Given the description of an element on the screen output the (x, y) to click on. 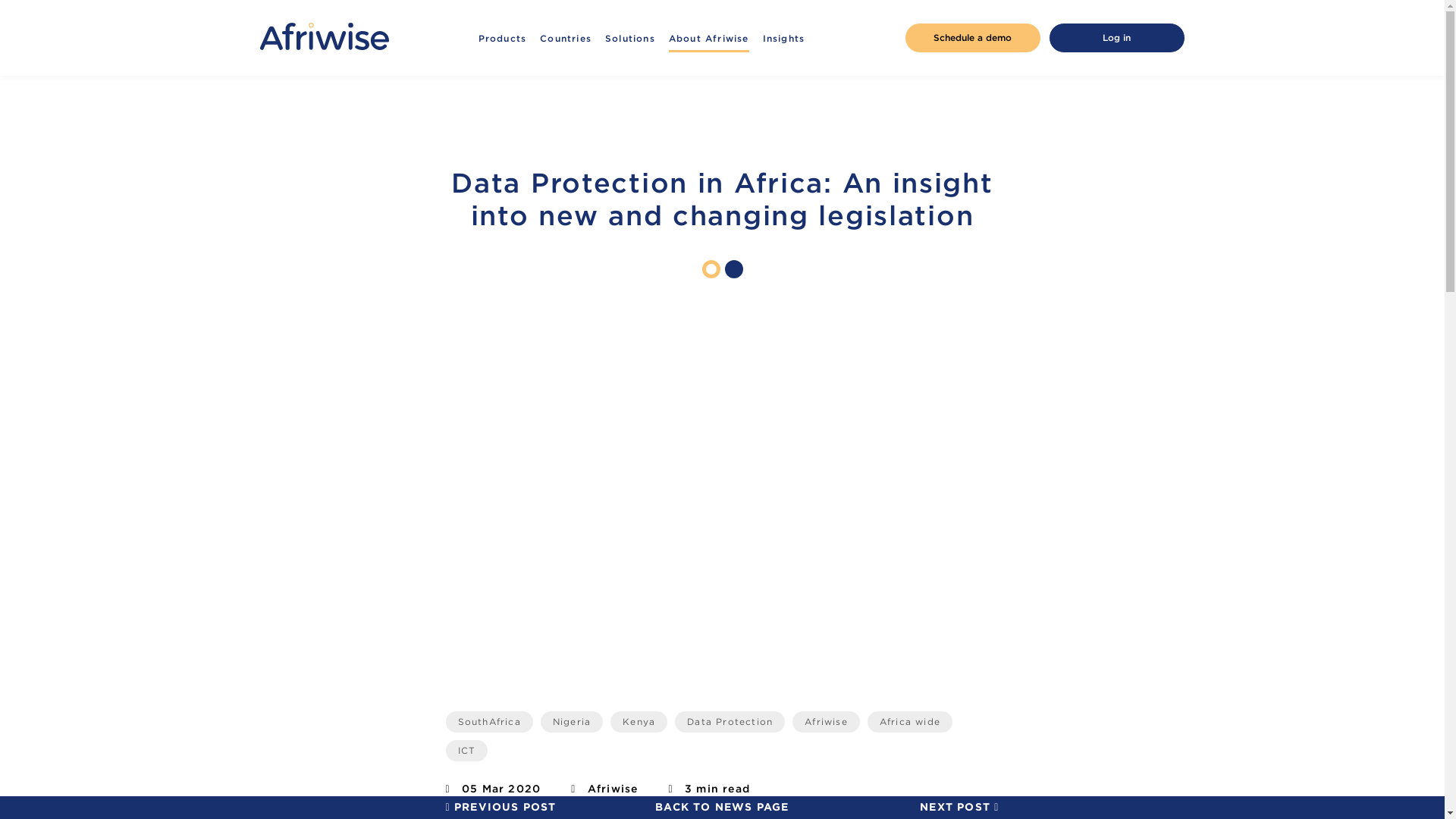
Nigeria (571, 721)
About Afriwise (708, 38)
Data Protection (729, 721)
ICT (466, 750)
SouthAfrica (488, 721)
Insights (783, 38)
Products (503, 38)
Nigeria (571, 721)
PREVIOUS POST (500, 806)
Data Protection (729, 721)
